Given the description of an element on the screen output the (x, y) to click on. 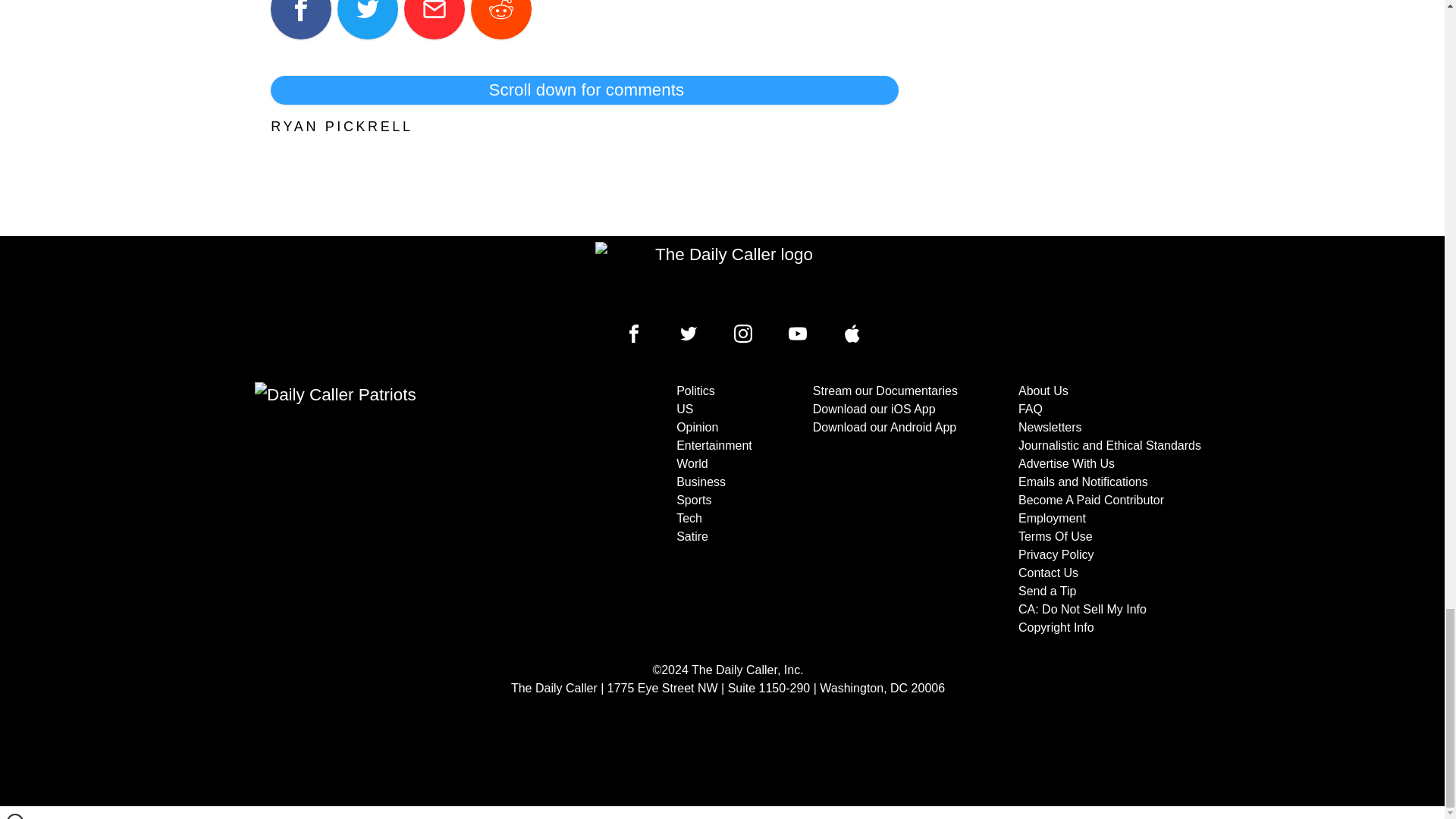
Daily Caller Facebook (633, 333)
Daily Caller YouTube (797, 333)
Scroll down for comments (584, 90)
Daily Caller Instagram (742, 333)
Subscribe to The Daily Caller (405, 509)
To home page (727, 276)
Daily Caller YouTube (852, 333)
Daily Caller Twitter (688, 333)
